Given the description of an element on the screen output the (x, y) to click on. 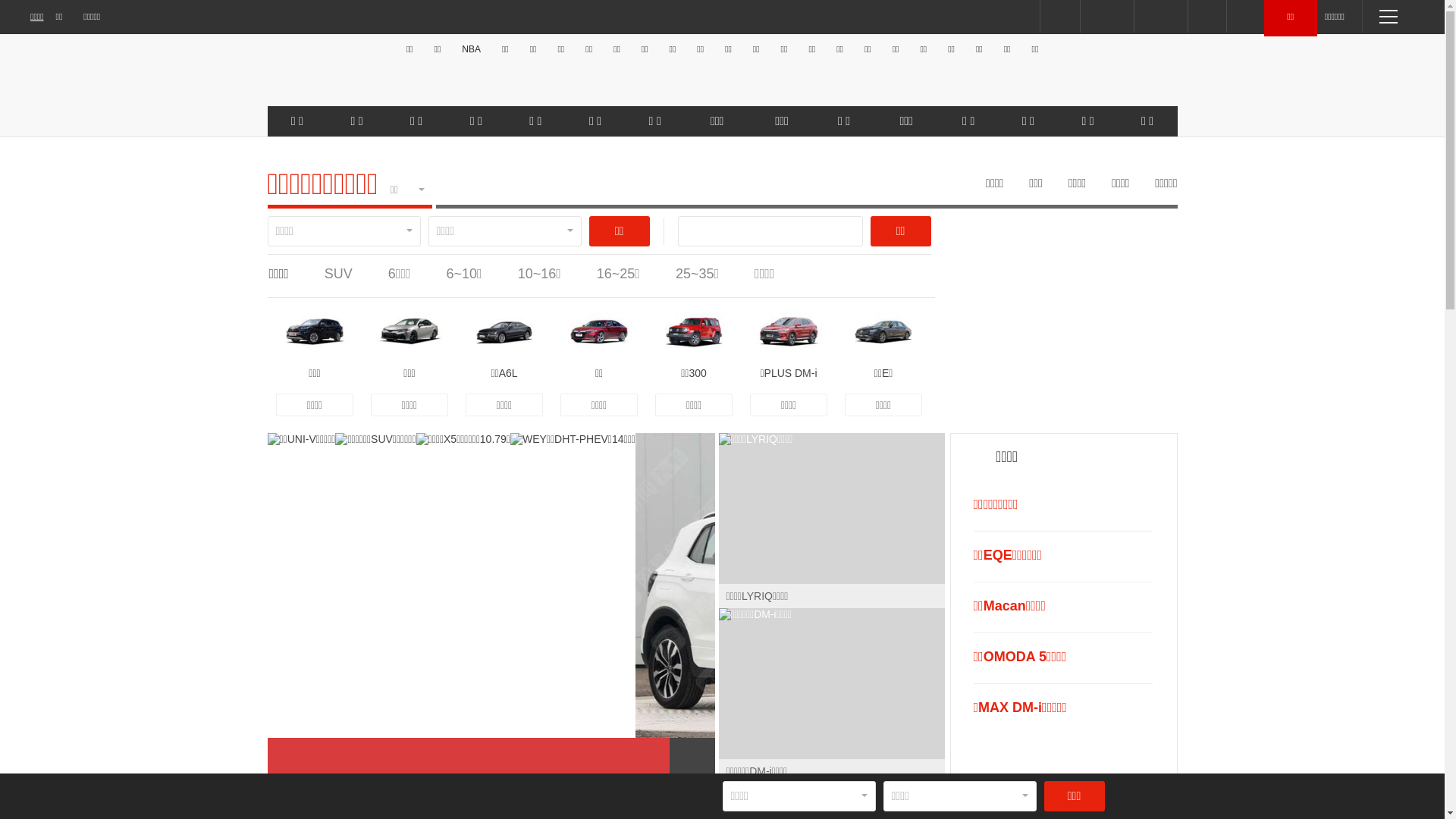
SUV Element type: text (338, 273)
NBA Element type: text (471, 48)
